Given the description of an element on the screen output the (x, y) to click on. 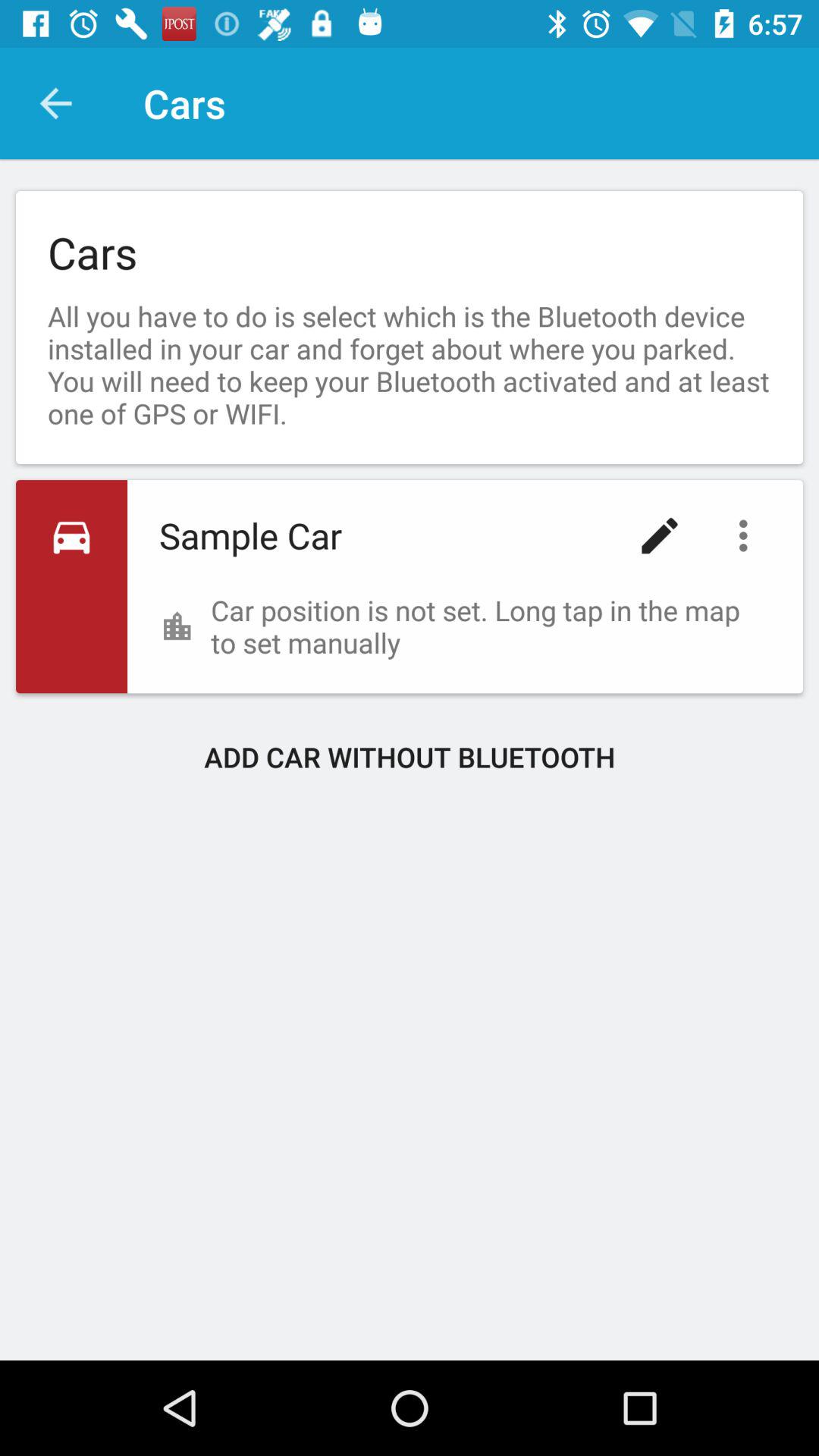
turn off icon to the left of cars item (55, 103)
